Given the description of an element on the screen output the (x, y) to click on. 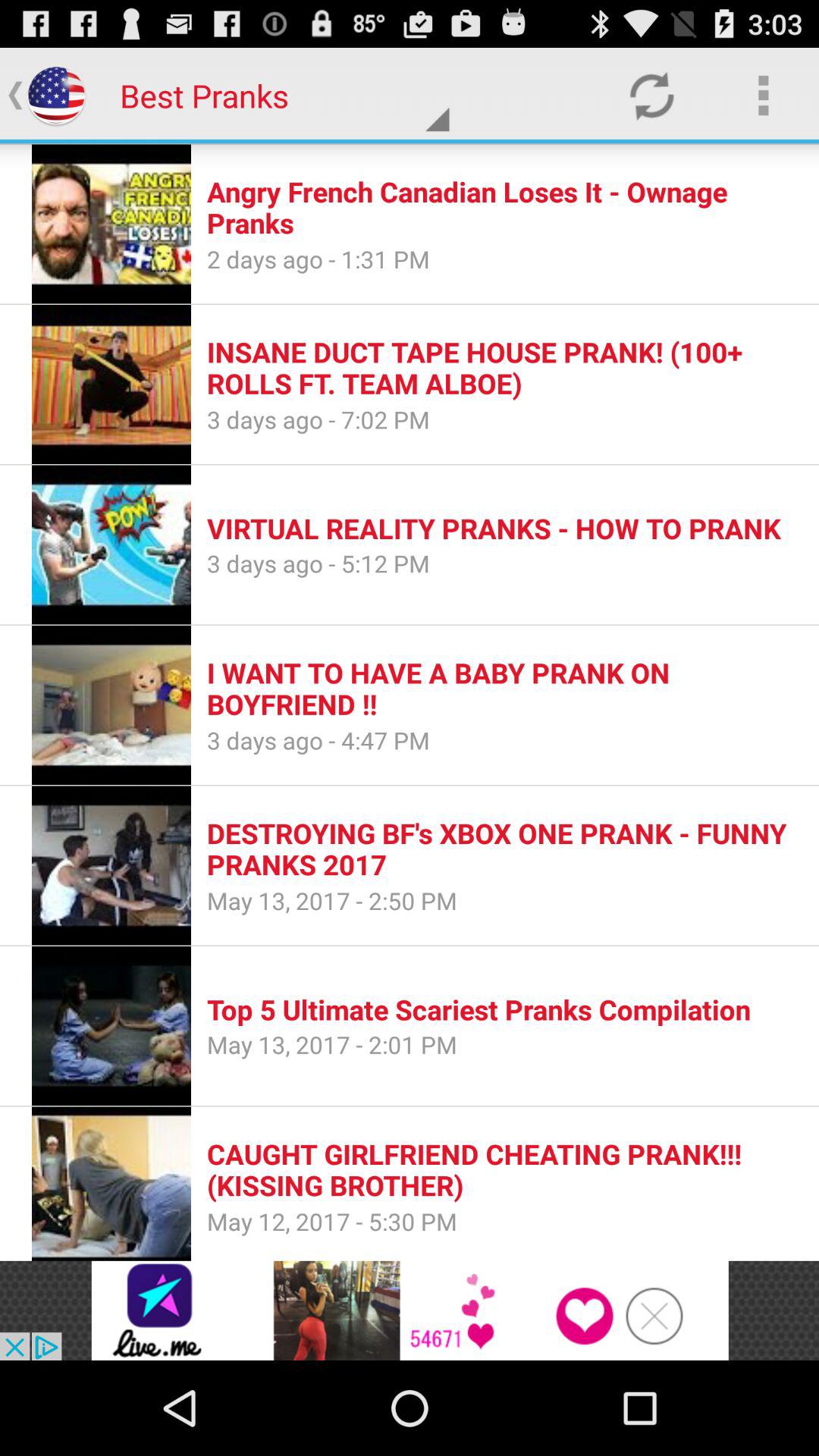
open advertisement (409, 1310)
